Given the description of an element on the screen output the (x, y) to click on. 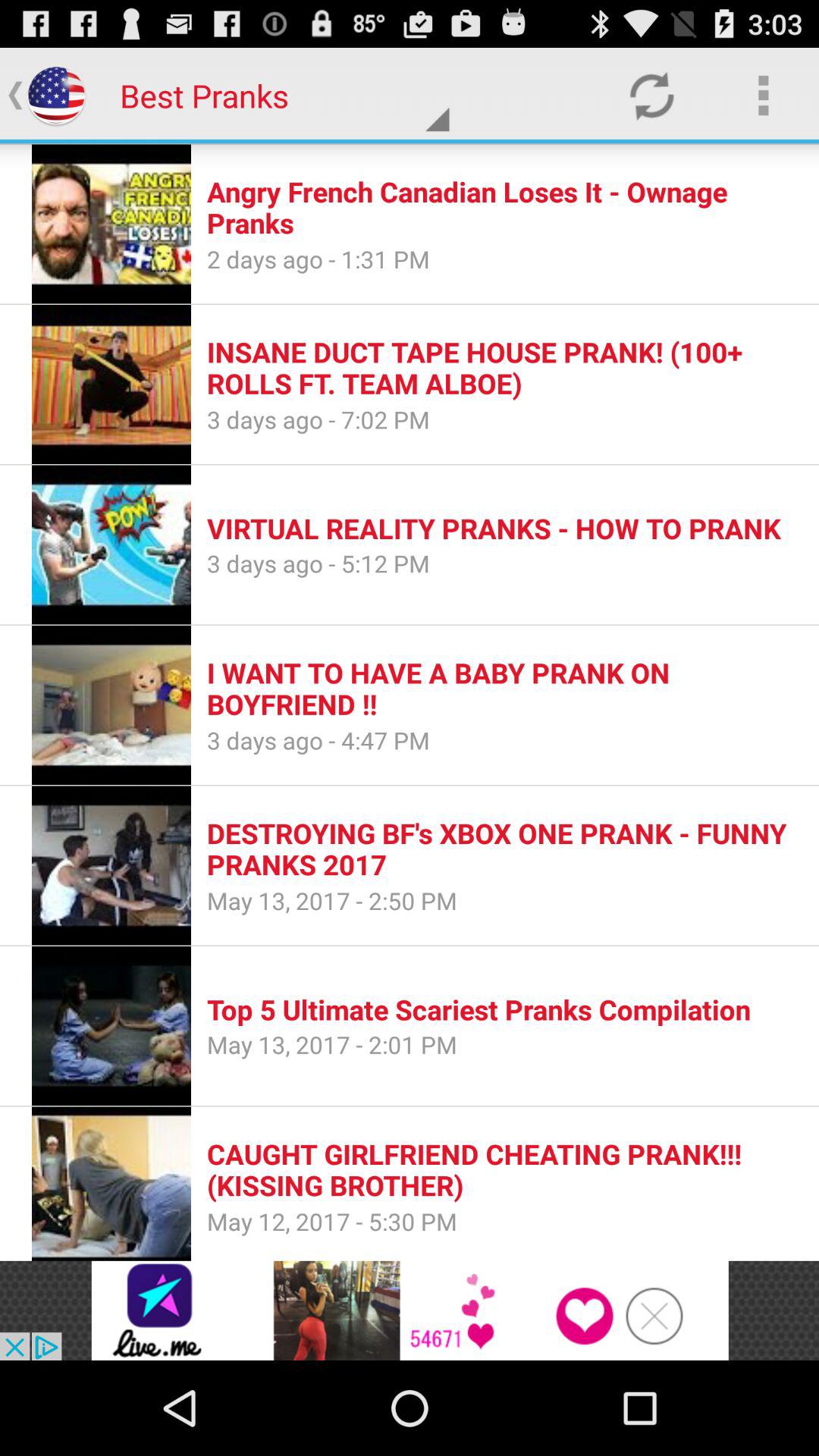
open advertisement (409, 1310)
